Given the description of an element on the screen output the (x, y) to click on. 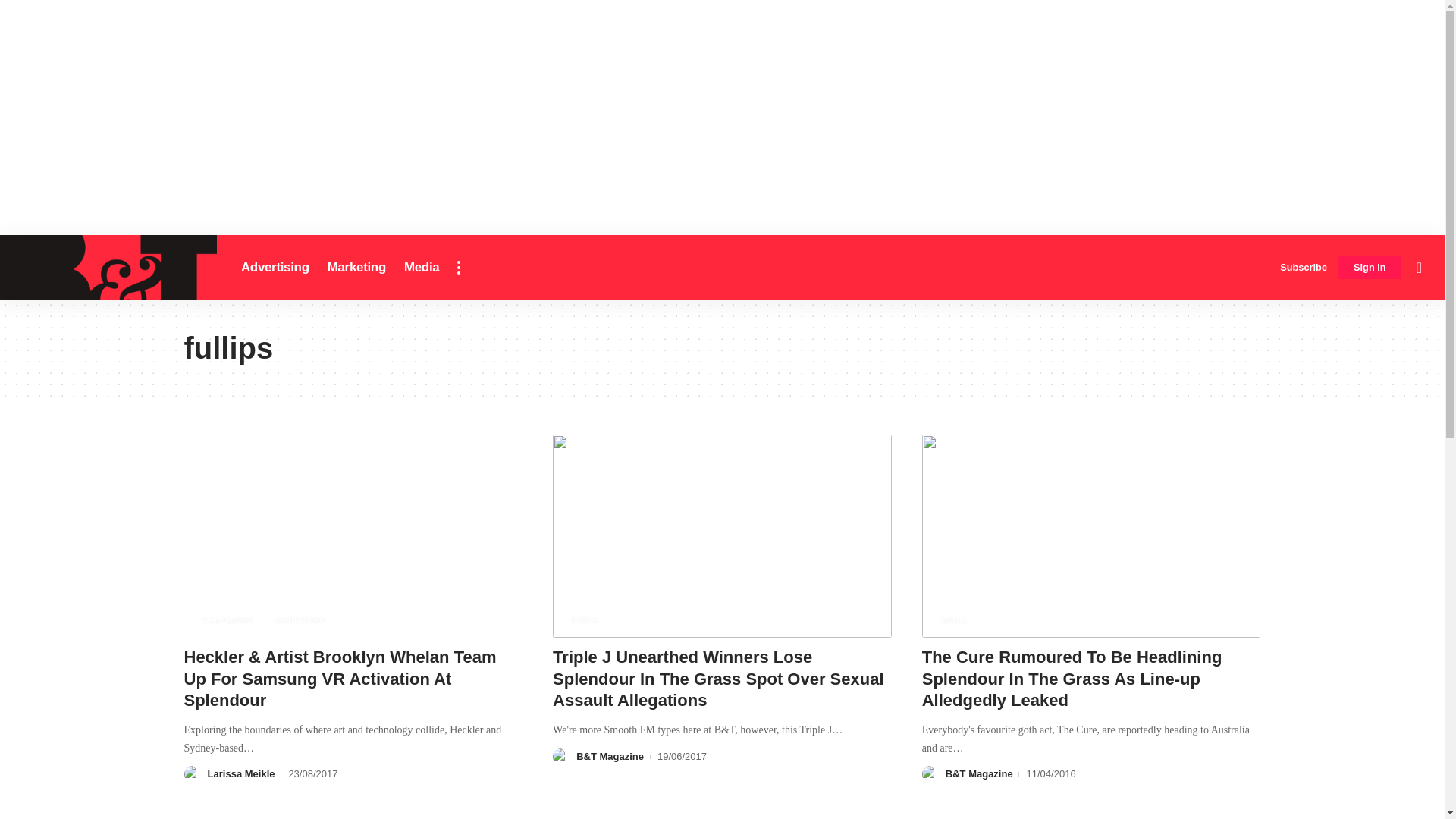
Marketing (356, 267)
Sign In (1369, 267)
Advertising (274, 267)
